Given the description of an element on the screen output the (x, y) to click on. 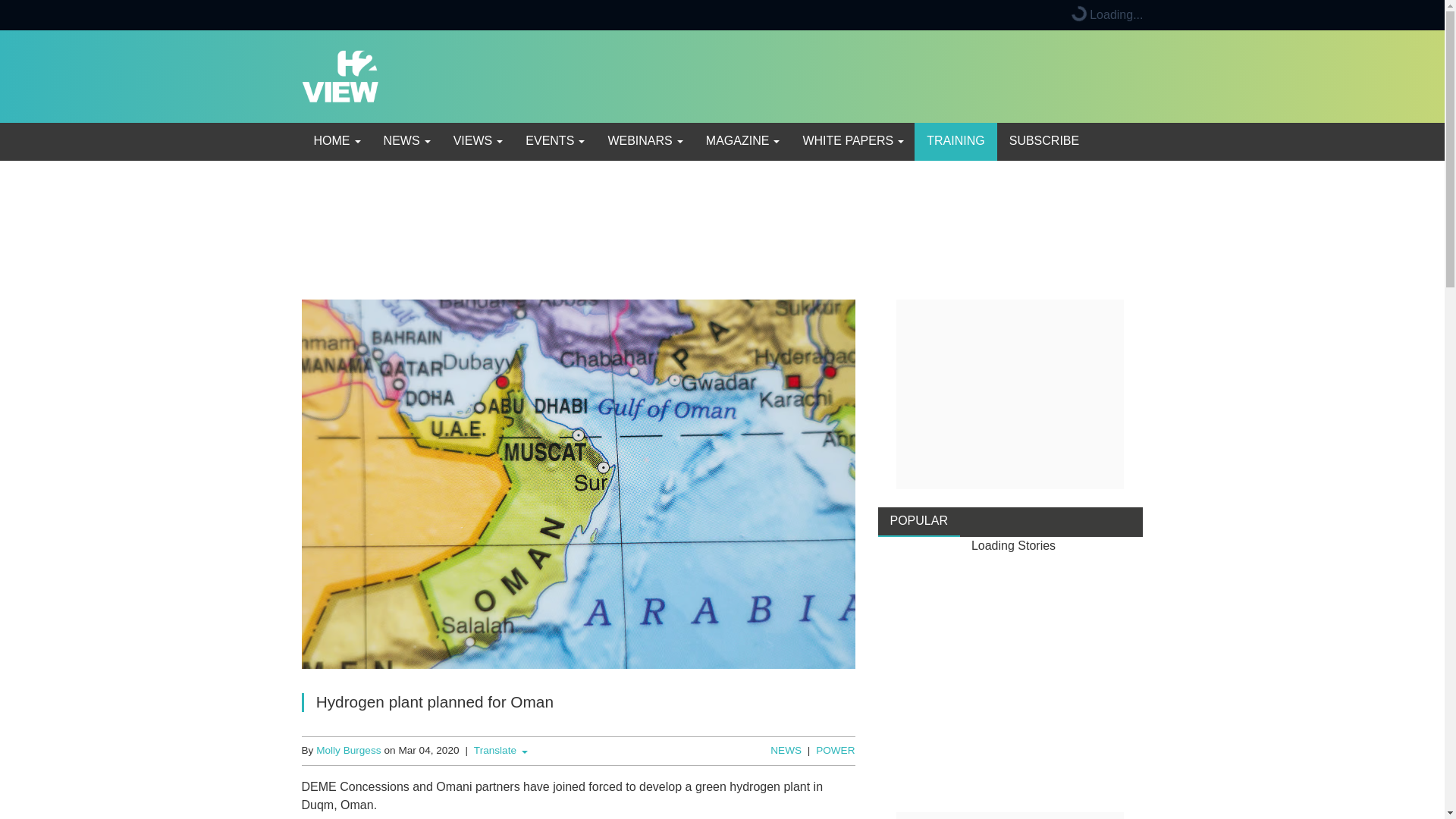
H2 View (339, 74)
NEWS (406, 140)
VIEWS (477, 140)
HOME (336, 140)
Home (336, 140)
News (406, 140)
